Given the description of an element on the screen output the (x, y) to click on. 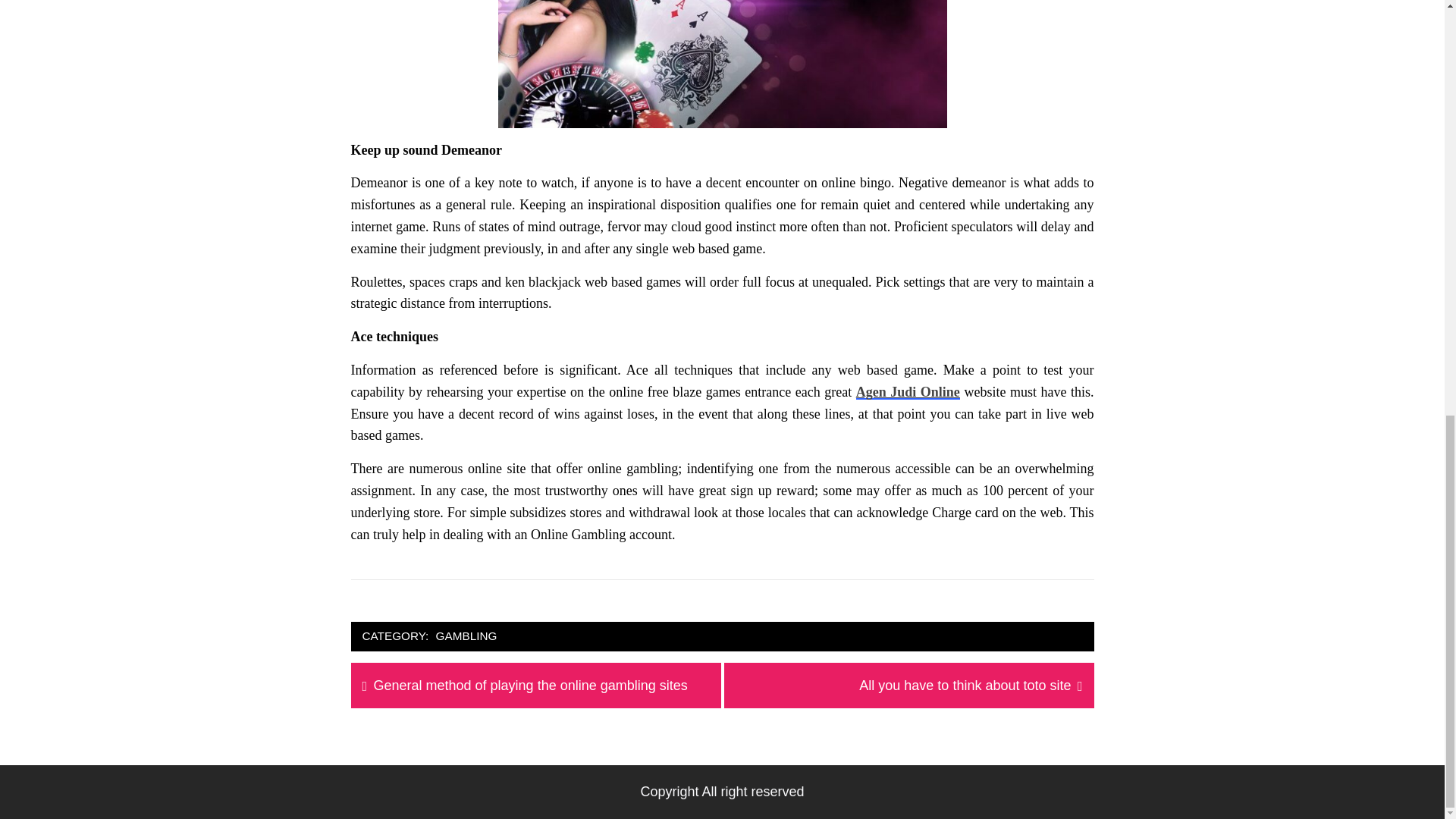
Agen Judi Online (964, 685)
GAMBLING (907, 391)
